Given the description of an element on the screen output the (x, y) to click on. 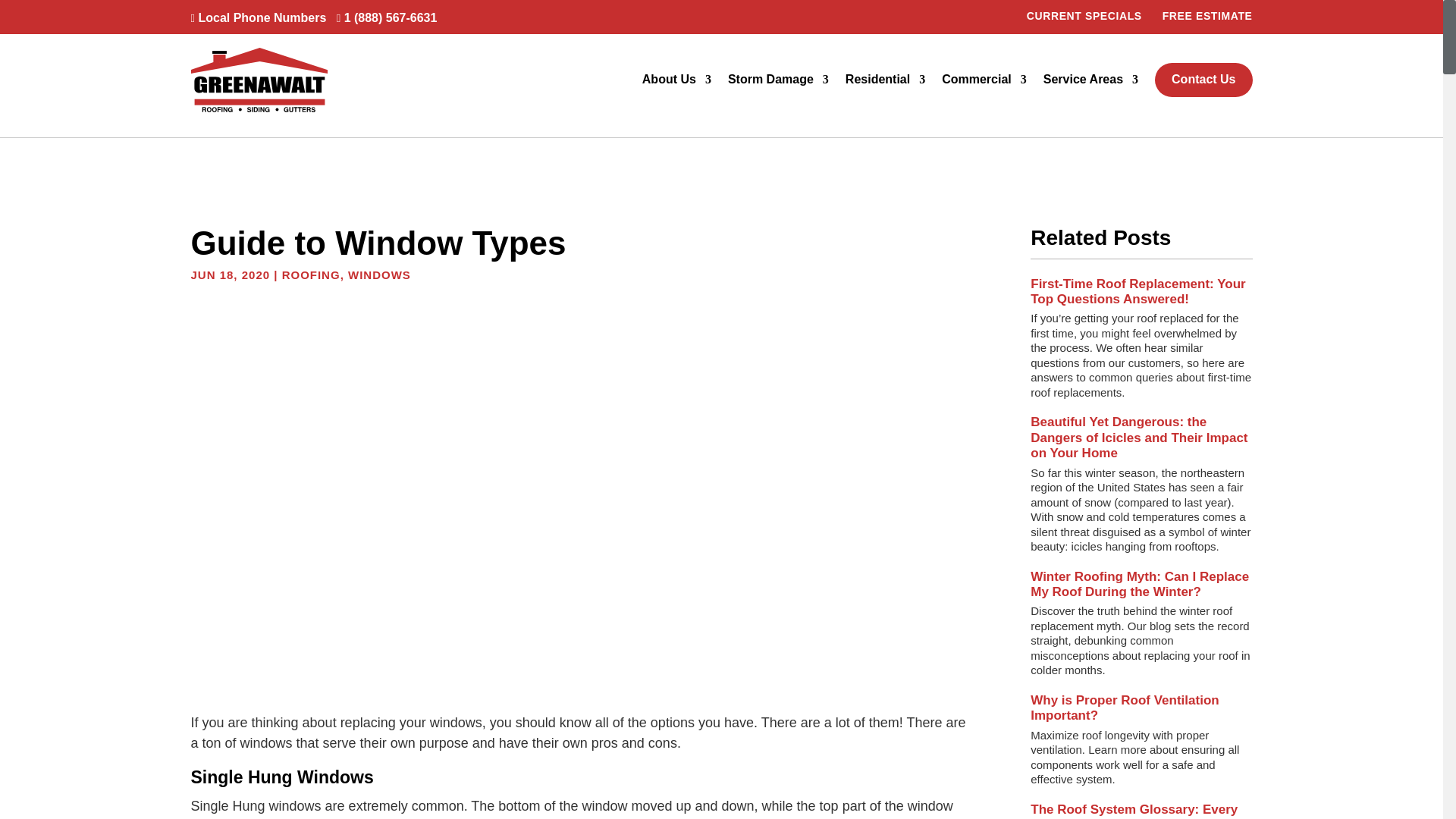
FREE ESTIMATE (1206, 15)
Commercial (984, 79)
Specials (1083, 15)
About Us (676, 79)
Residential (884, 79)
CURRENT SPECIALS (1083, 15)
Service Areas (1090, 79)
Storm Damage (778, 79)
Schedule Free Estimate (1206, 15)
